Given the description of an element on the screen output the (x, y) to click on. 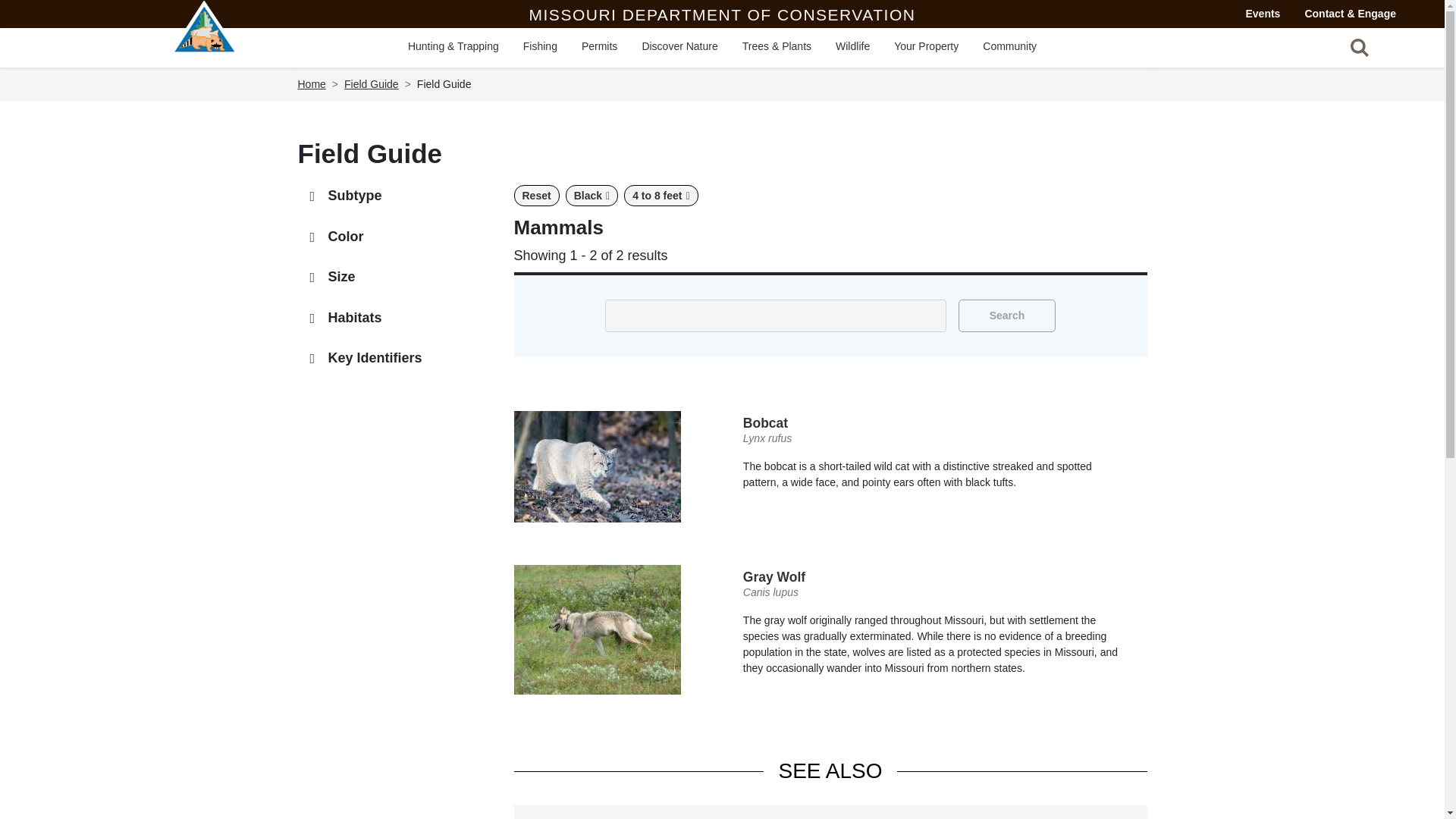
Home (204, 42)
Events (1262, 13)
Search (1006, 315)
